Given the description of an element on the screen output the (x, y) to click on. 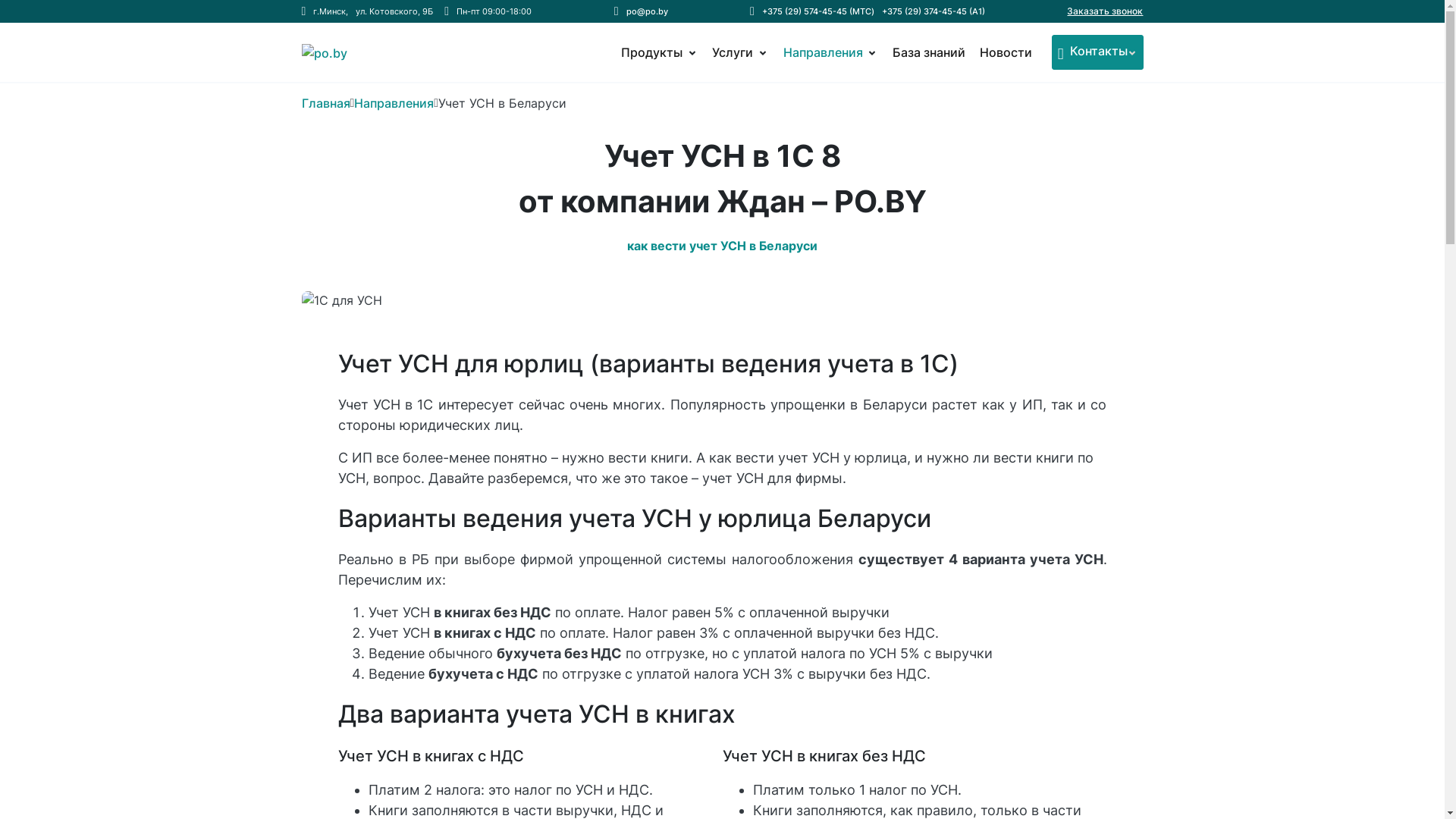
po@po.by Element type: text (647, 11)
po.by Element type: text (363, 61)
